Given the description of an element on the screen output the (x, y) to click on. 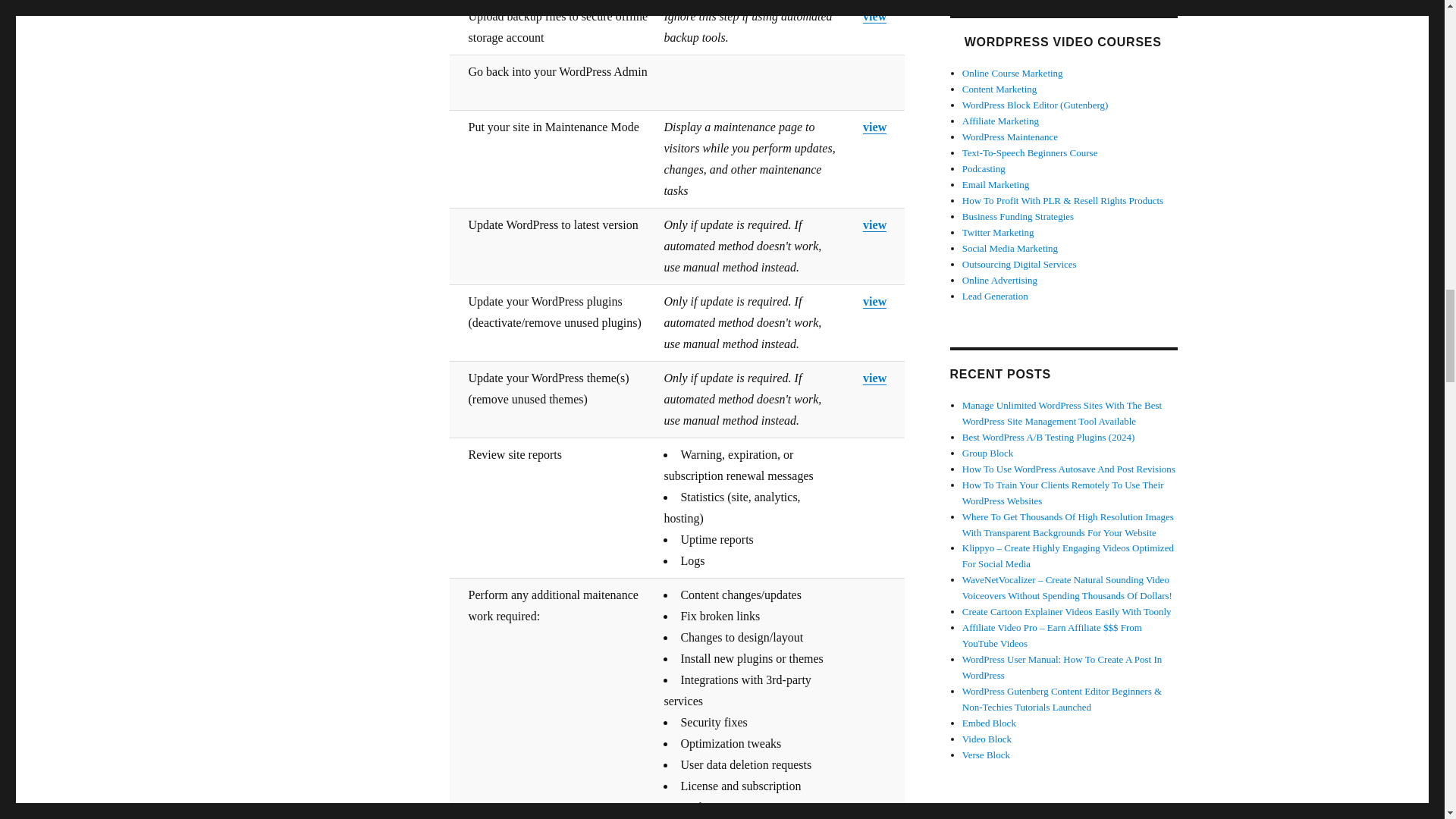
view (874, 224)
view (874, 126)
view (874, 15)
